Given the description of an element on the screen output the (x, y) to click on. 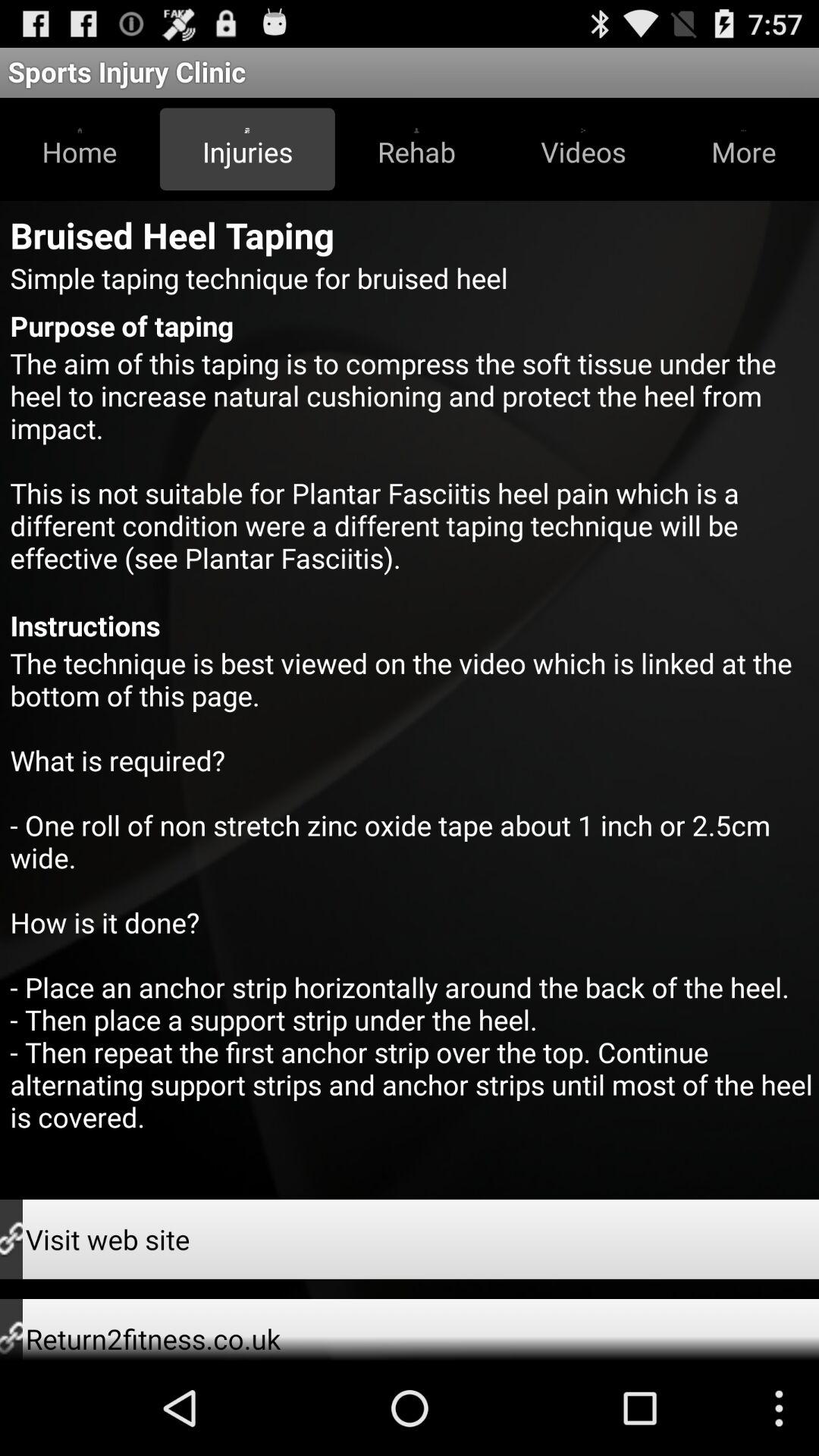
press the icon next to rehab item (583, 149)
